Given the description of an element on the screen output the (x, y) to click on. 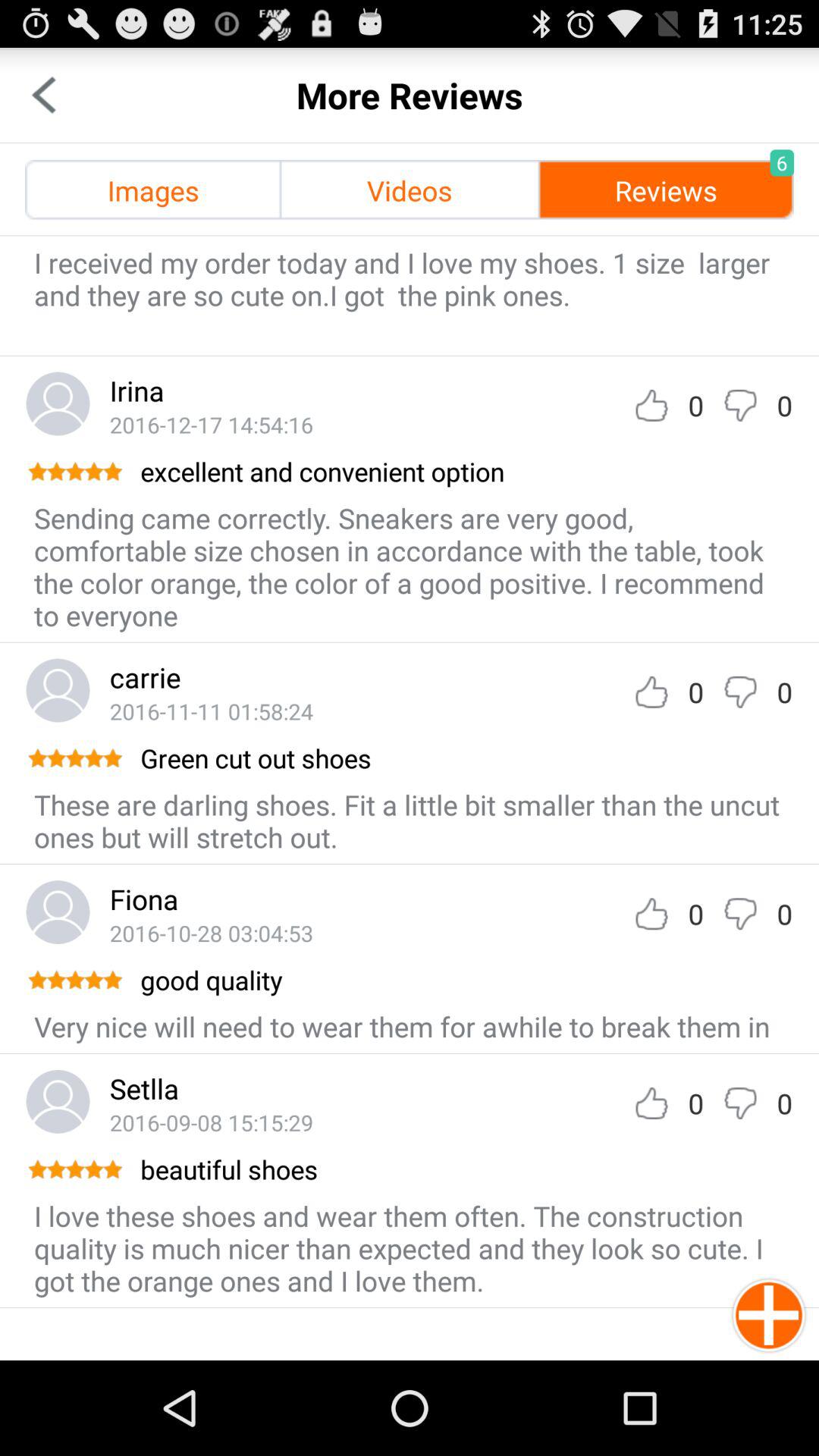
scroll until videos app (409, 189)
